Given the description of an element on the screen output the (x, y) to click on. 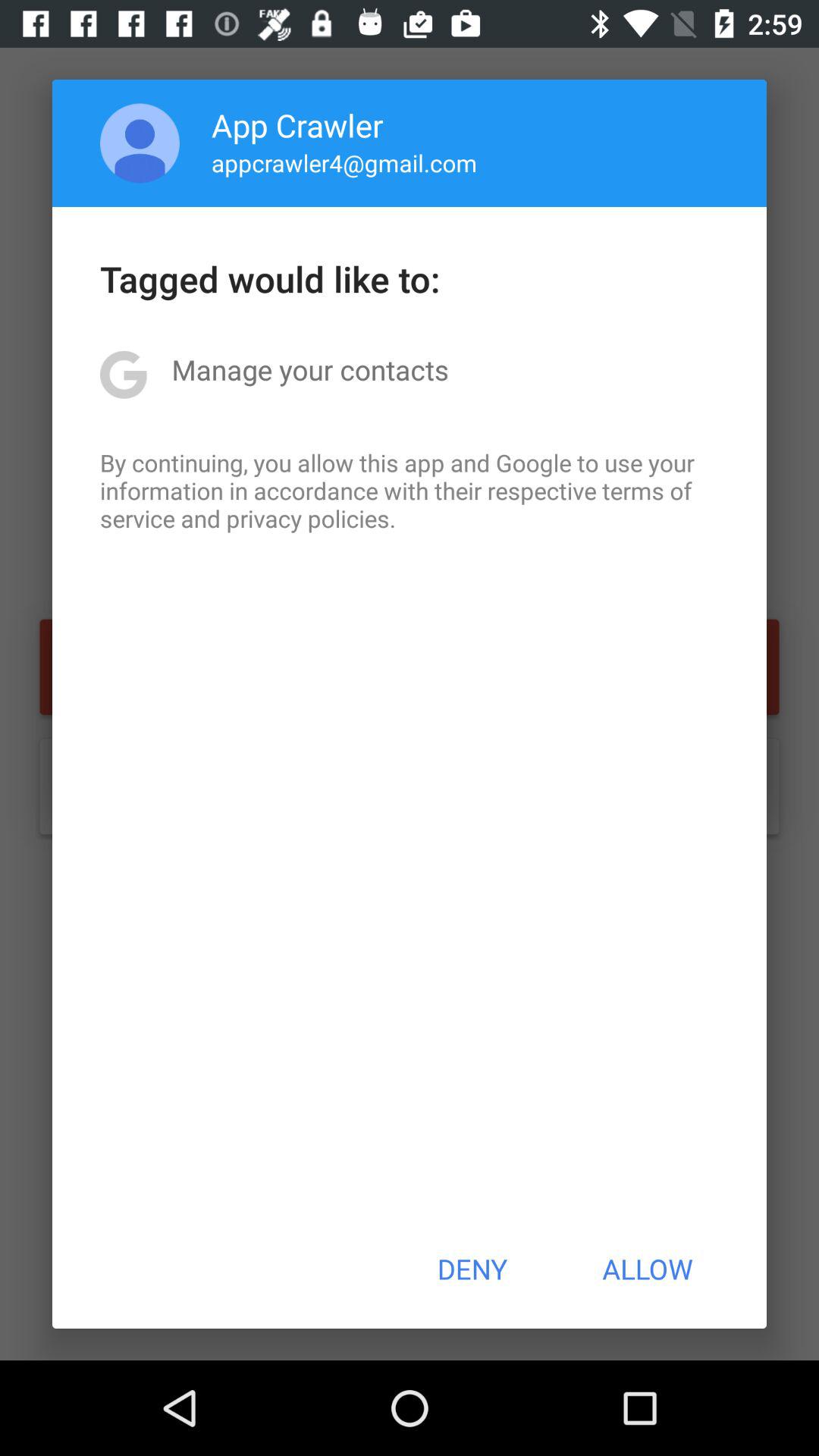
press item above the by continuing you item (309, 369)
